Given the description of an element on the screen output the (x, y) to click on. 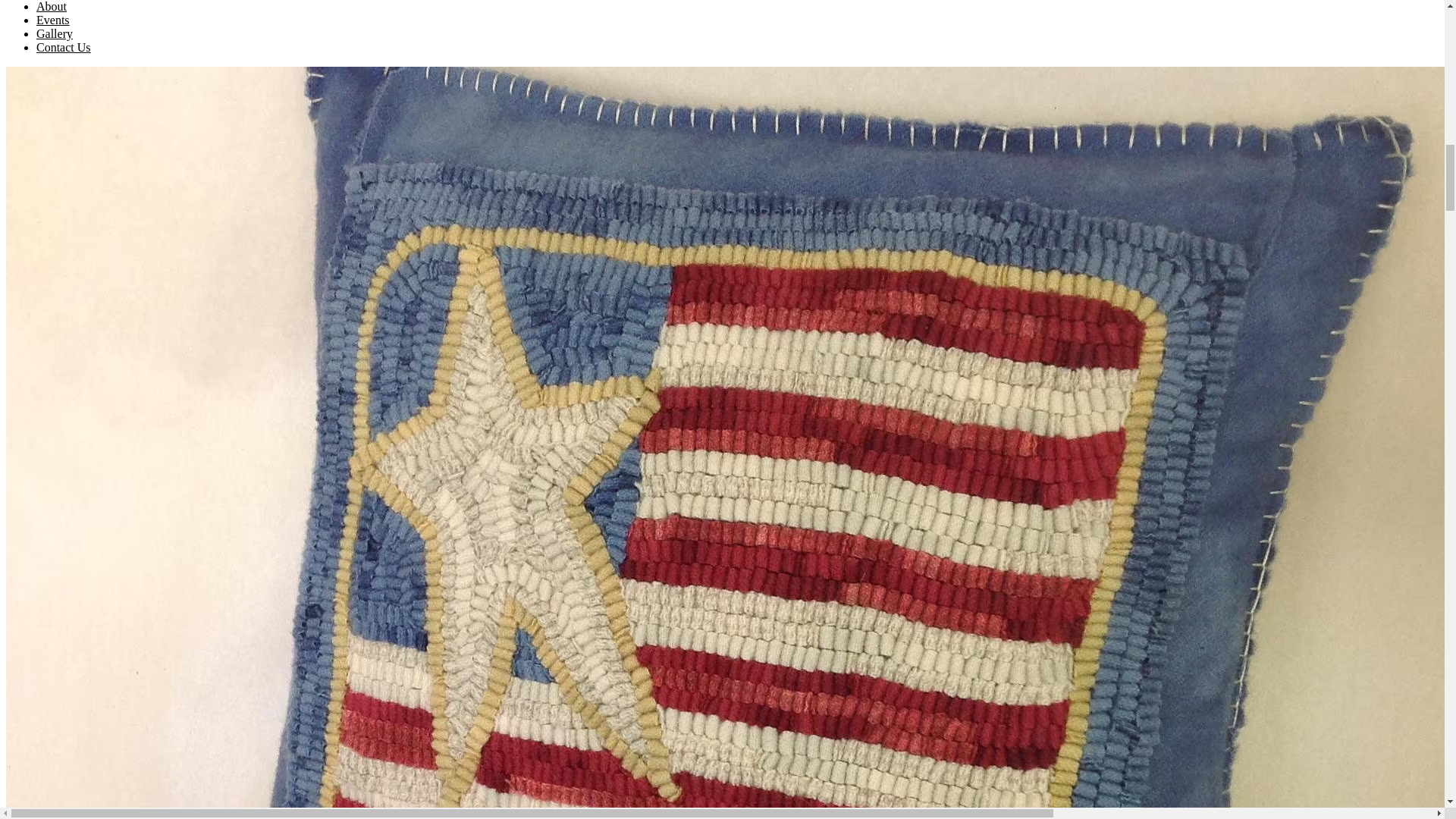
Gallery (54, 33)
Events (52, 19)
Contact Us (63, 47)
About (51, 6)
